Given the description of an element on the screen output the (x, y) to click on. 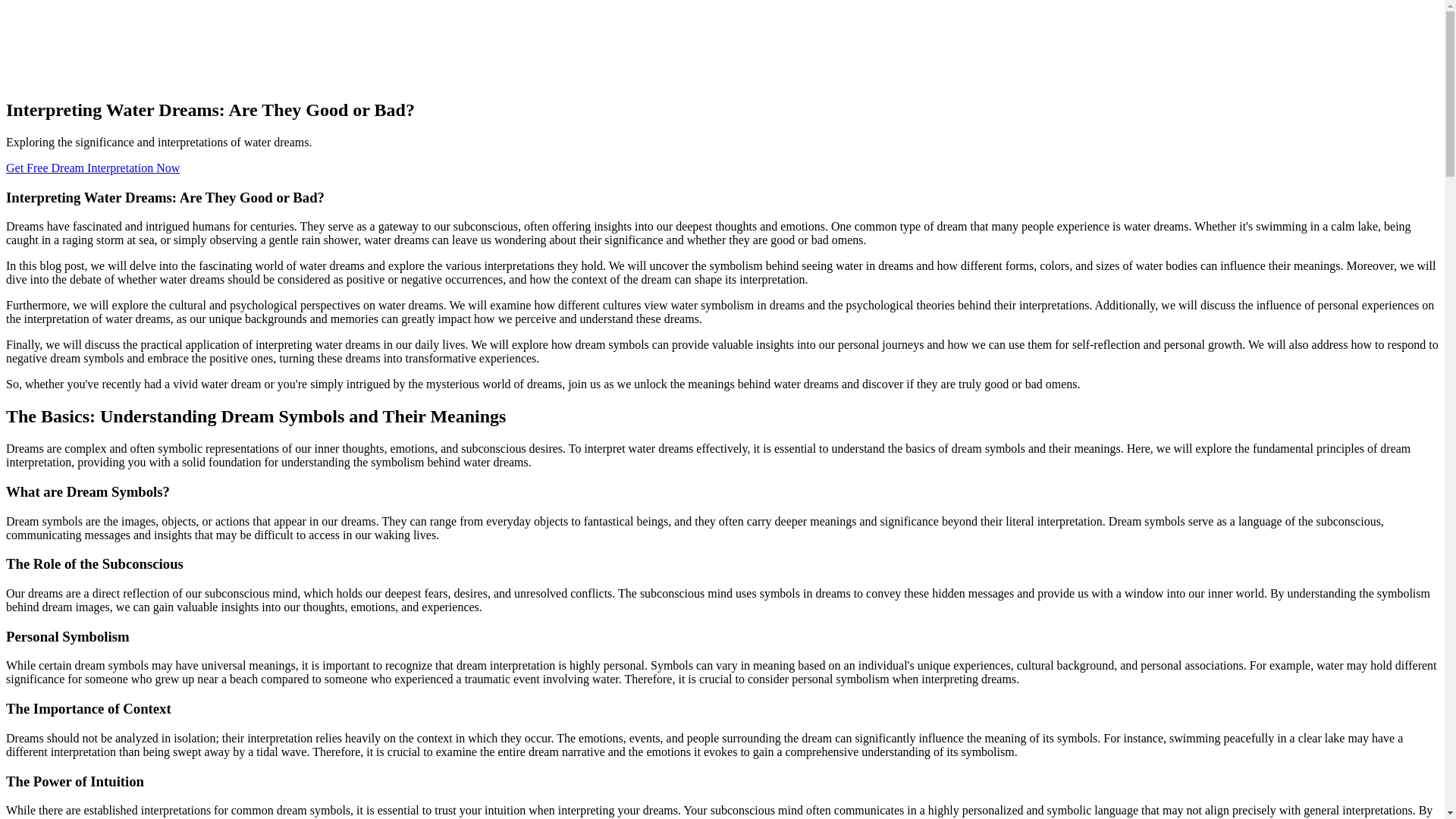
Get Free Dream Interpretation Now (92, 167)
